Given the description of an element on the screen output the (x, y) to click on. 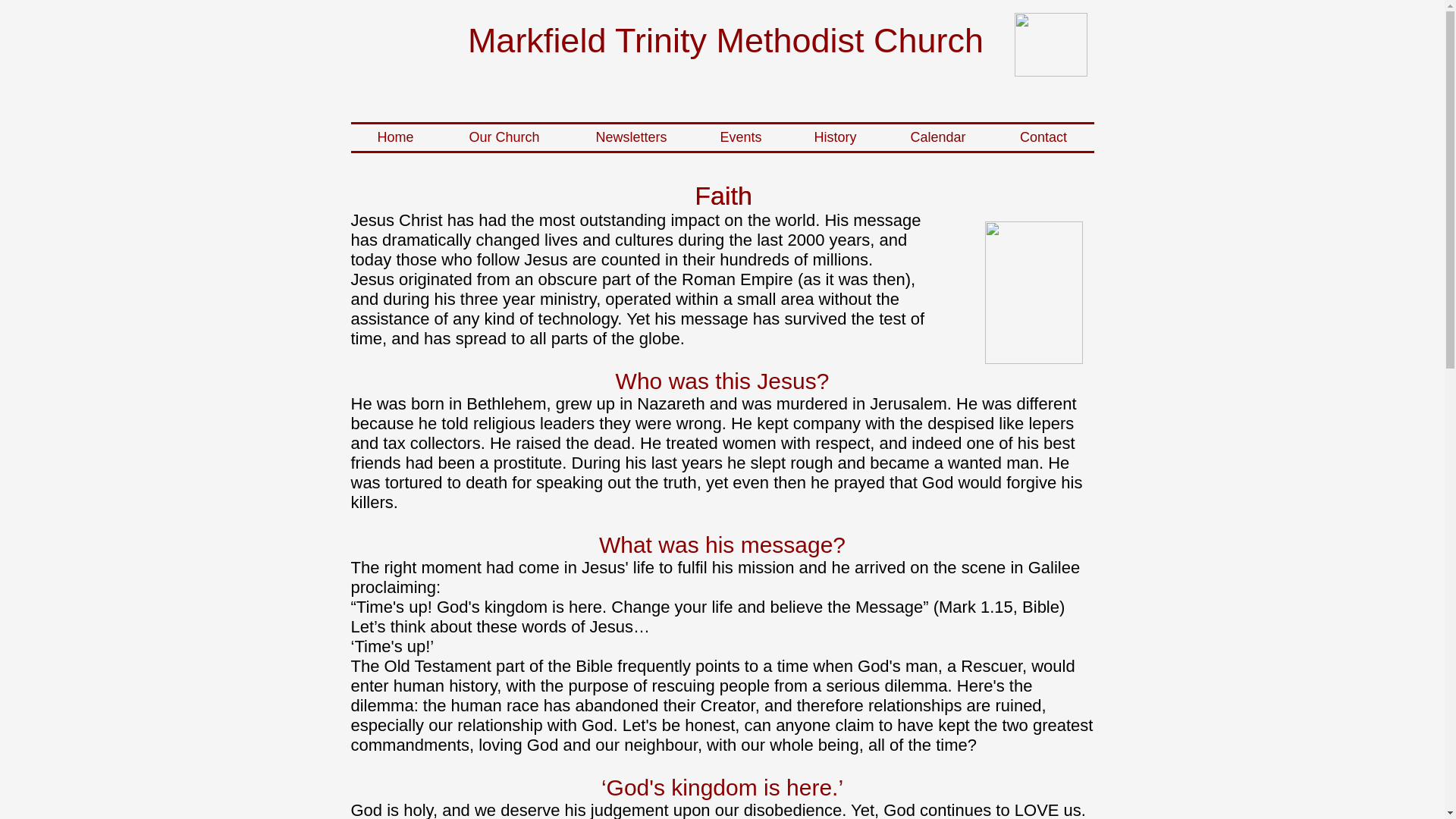
Markfield Trinity Methodist Church (725, 40)
Newsletters (631, 137)
Events (740, 137)
Calendar (937, 137)
Home (394, 137)
Contact (1043, 137)
